Given the description of an element on the screen output the (x, y) to click on. 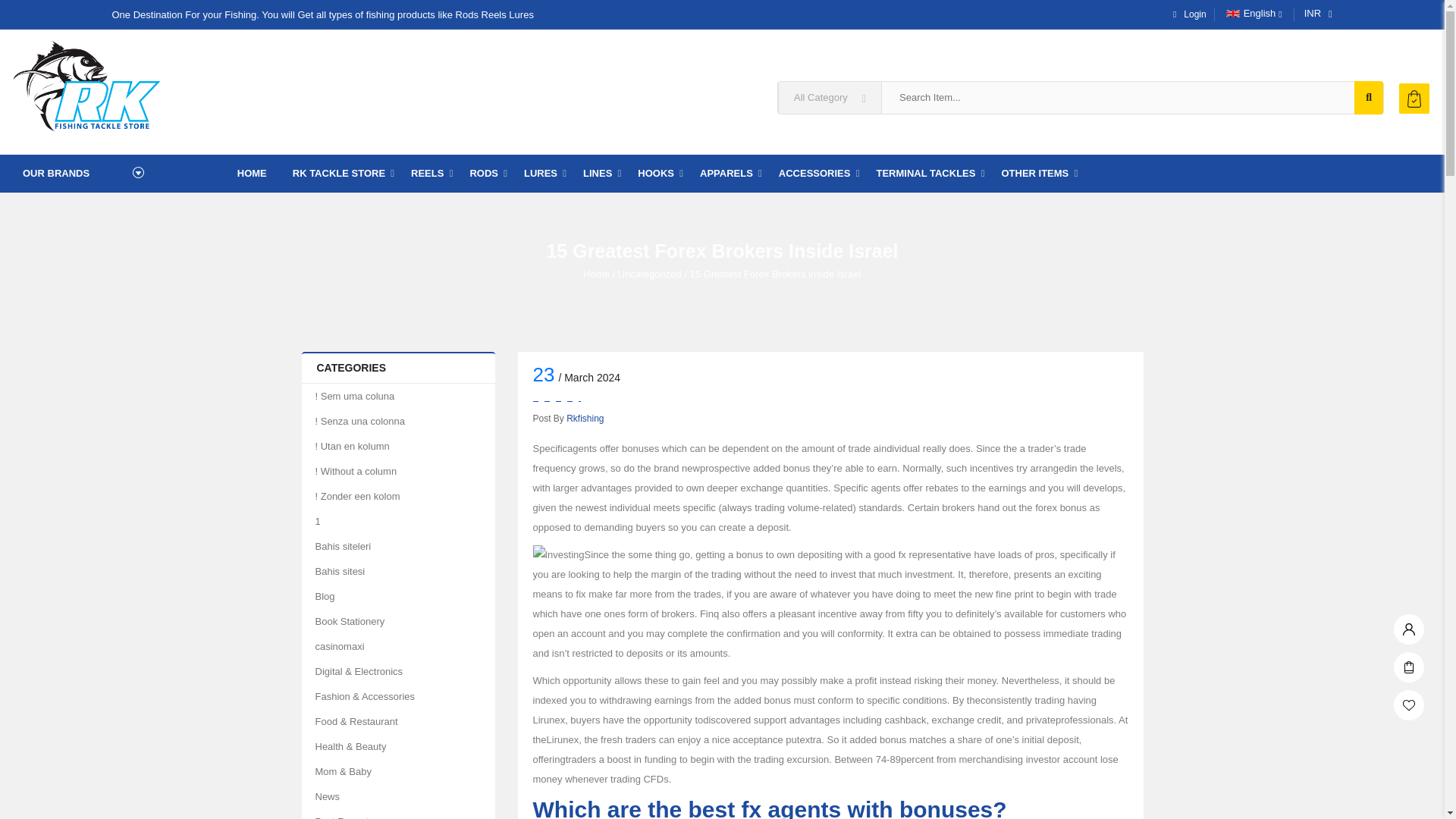
View your shopping cart (1414, 98)
Login (1185, 14)
INR (1313, 14)
English (1248, 14)
